Given the description of an element on the screen output the (x, y) to click on. 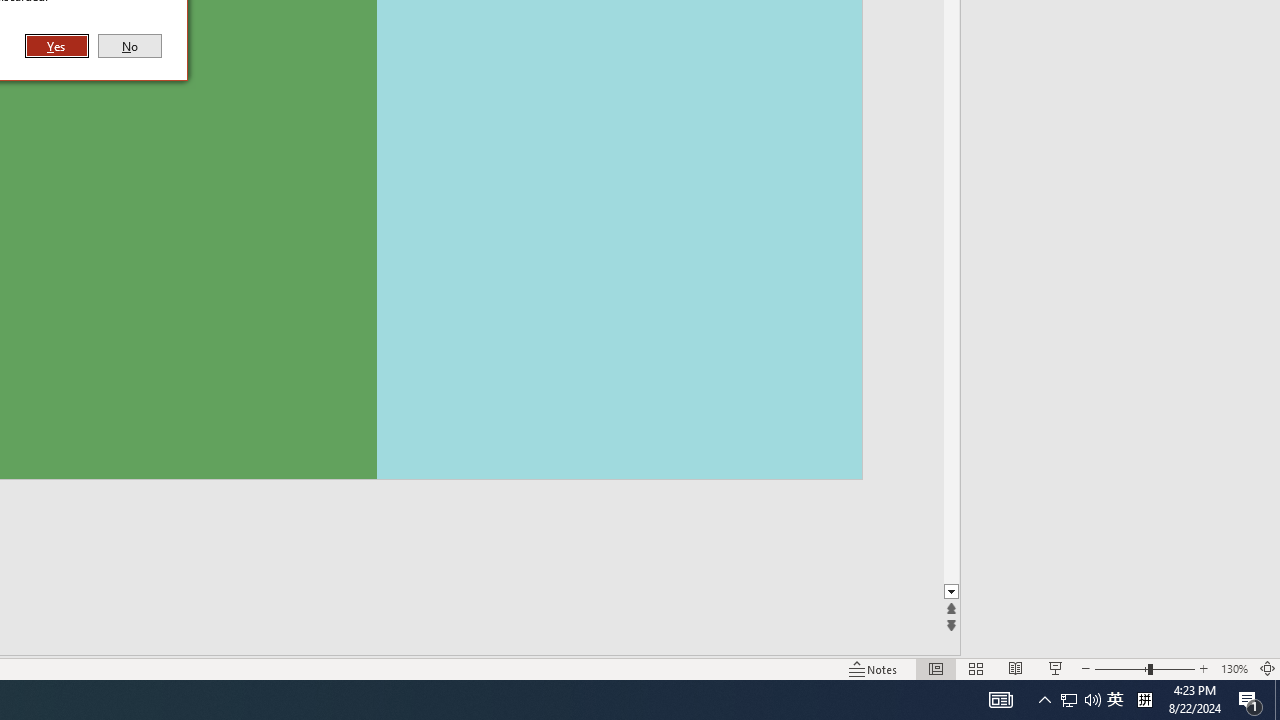
No (130, 45)
Yes (57, 45)
